Given the description of an element on the screen output the (x, y) to click on. 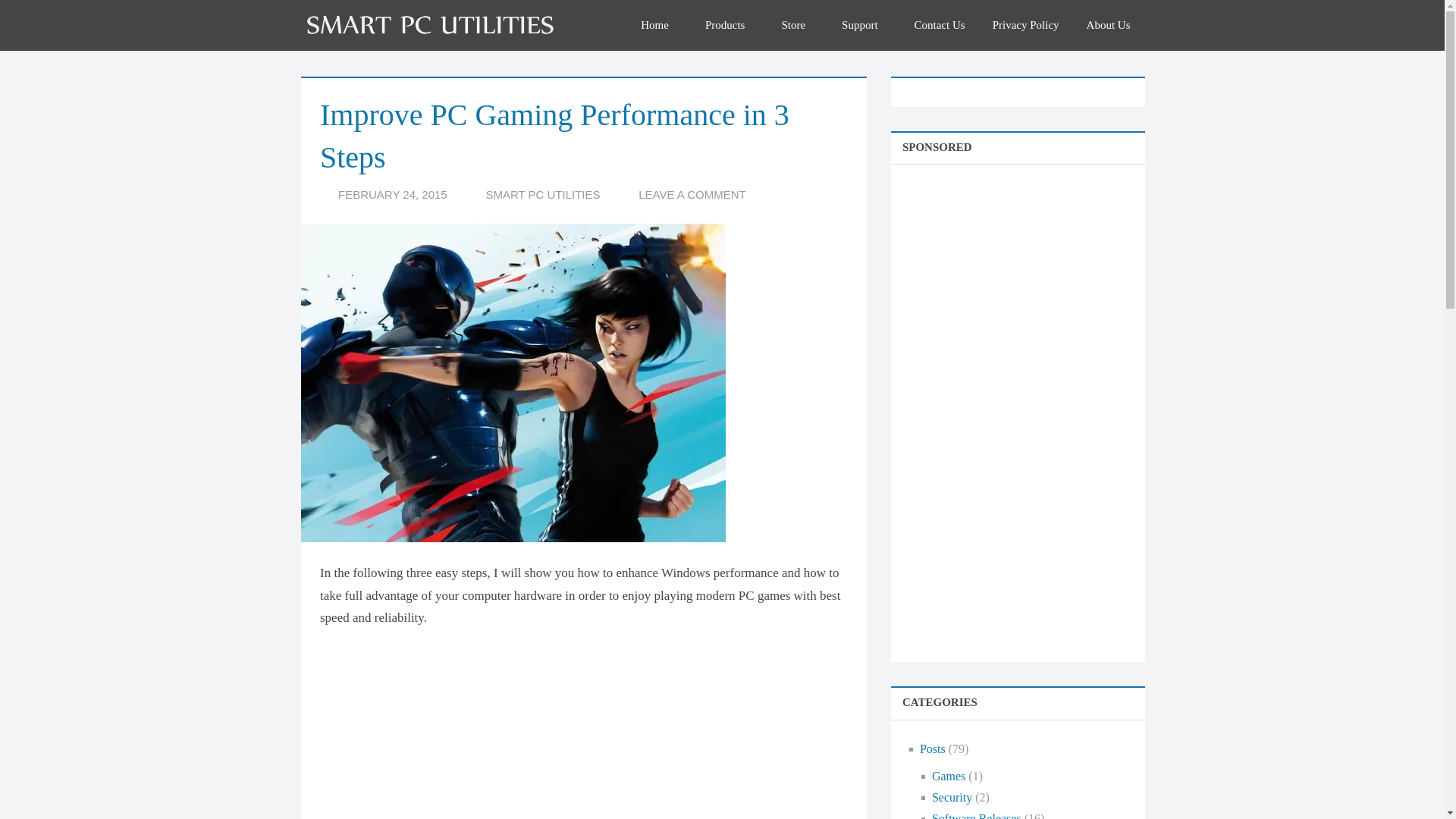
Privacy Policy (1025, 24)
SMART PC UTILITIES (541, 194)
Contact Us (939, 24)
7:23 PM (391, 194)
Products (729, 24)
Home (659, 24)
FEBRUARY 24, 2015 (391, 194)
Support (864, 24)
Advertisement (604, 753)
About Us (1108, 24)
Store (797, 24)
View all posts by Smart PC Utilities (541, 194)
LEAVE A COMMENT (692, 194)
